Given the description of an element on the screen output the (x, y) to click on. 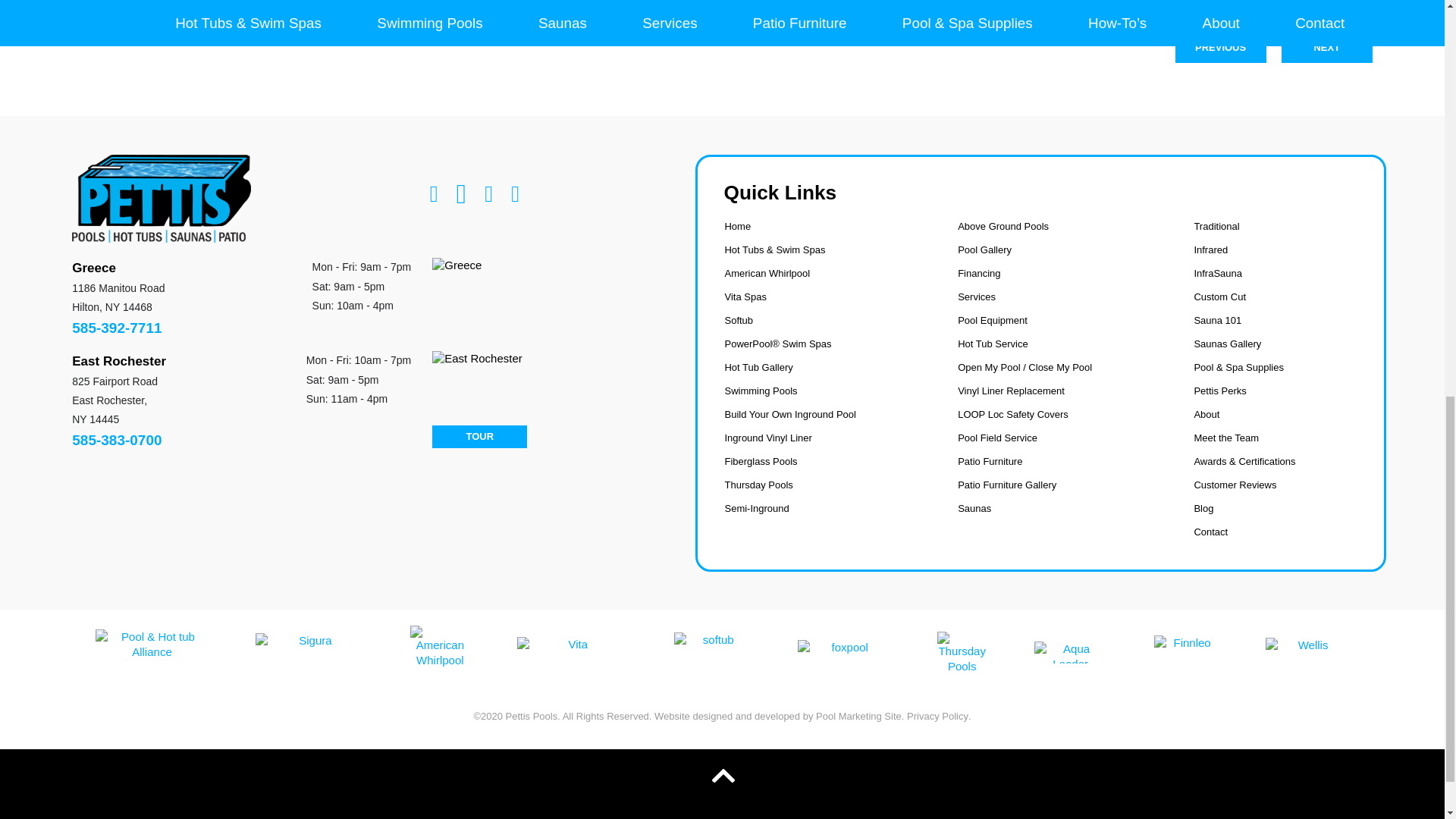
pettis (160, 198)
